Given the description of an element on the screen output the (x, y) to click on. 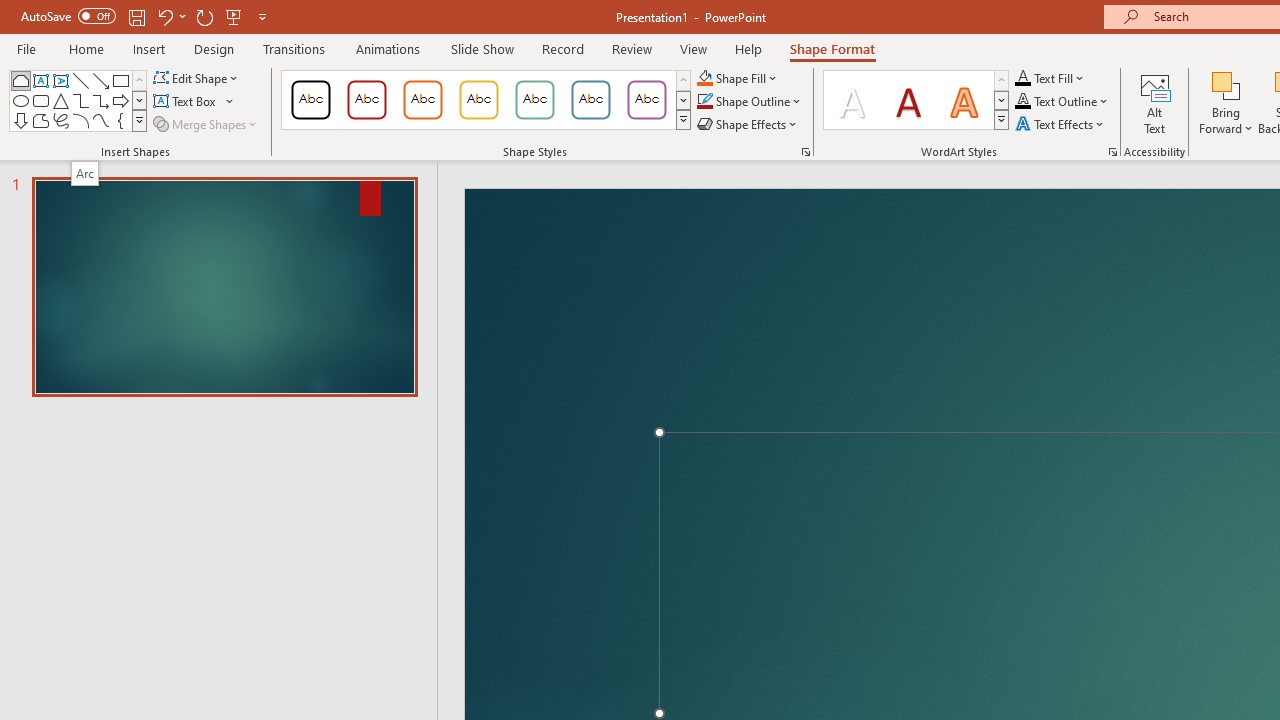
Fill: Dark Red, Accent color 1; Shadow (908, 100)
Draw Horizontal Text Box (185, 101)
Text Outline (1062, 101)
Colored Outline - Dark Red, Accent 1 (367, 100)
